Given the description of an element on the screen output the (x, y) to click on. 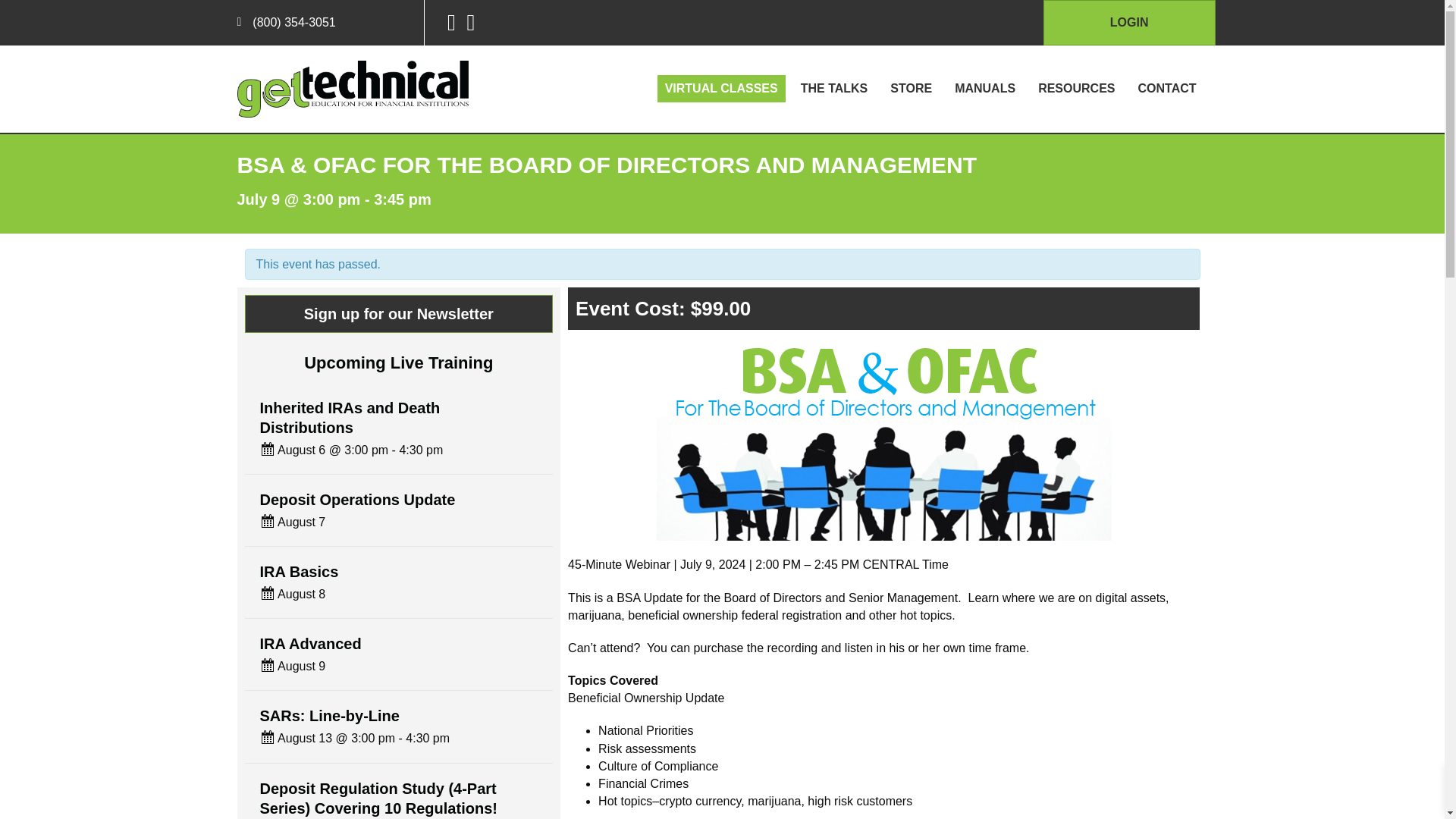
CONTACT (1166, 88)
VIRTUAL CLASSES (722, 88)
Deposit Operations Update (356, 499)
RESOURCES (1076, 88)
BSA-and-OFAC-7-9-24 (884, 438)
LOGIN (1129, 22)
Inherited IRAs and Death Distributions (349, 417)
MANUALS (985, 88)
IRA Advanced (310, 643)
SARs: Line-by-Line (328, 715)
STORE (910, 88)
IRA Basics (298, 571)
THE TALKS (834, 88)
